Given the description of an element on the screen output the (x, y) to click on. 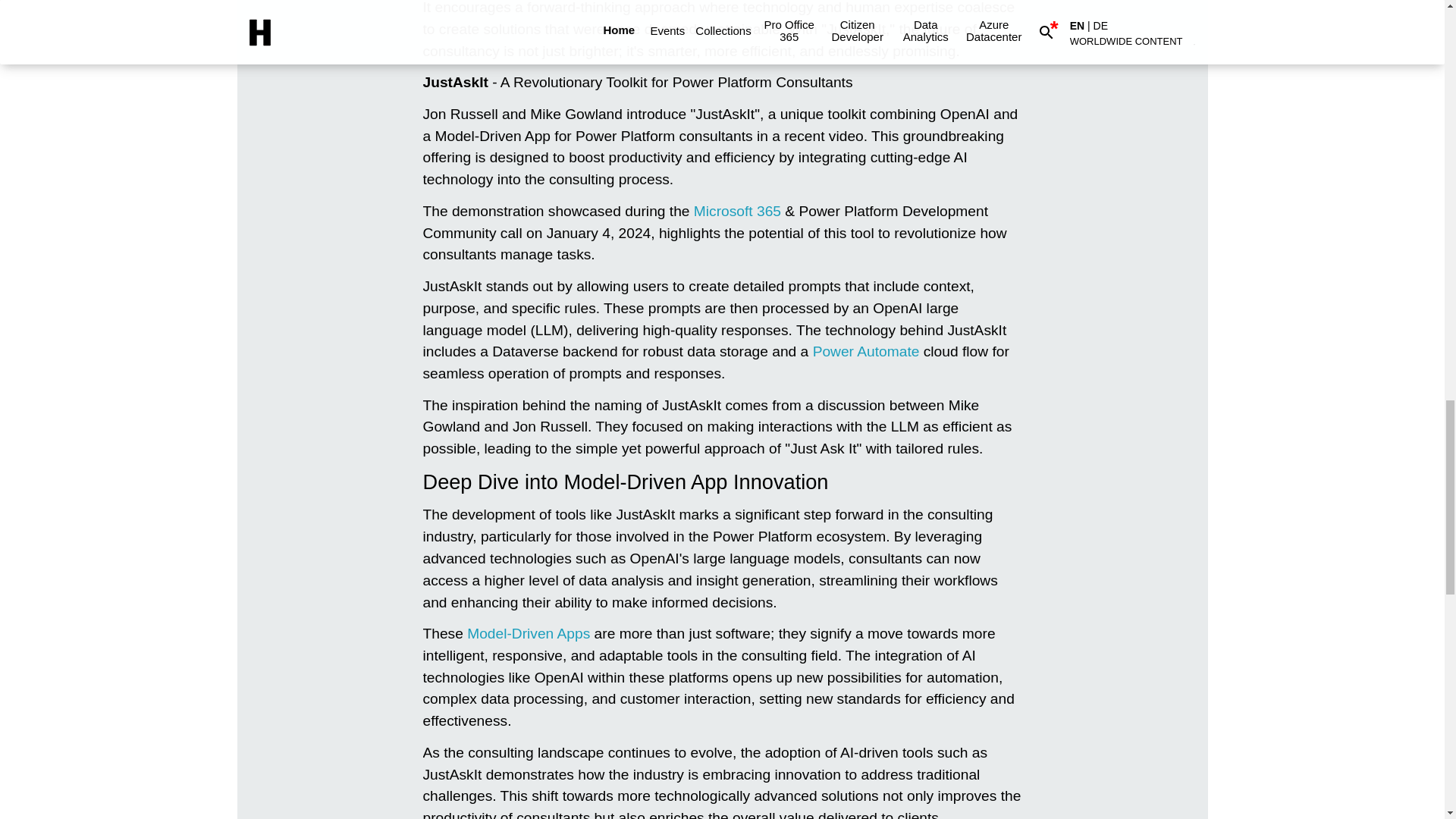
Power Automate (866, 351)
Model-Driven Apps (528, 633)
Model-Driven App (528, 633)
Microsoft 365 (737, 211)
Microsoft 365 (737, 211)
Power Automate (866, 351)
